Given the description of an element on the screen output the (x, y) to click on. 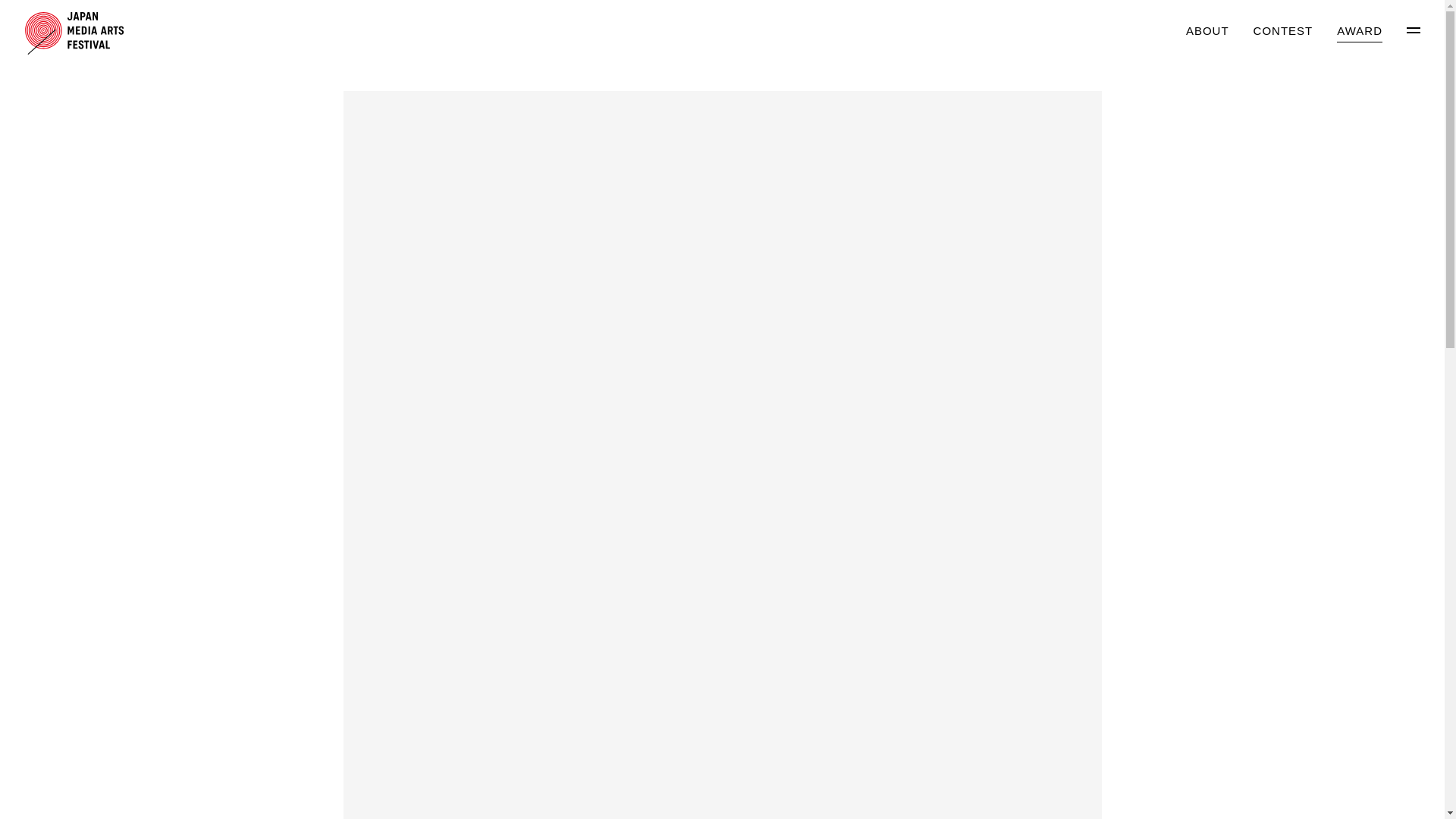
AWARD (1358, 32)
ABOUT (1207, 32)
CONTEST (1283, 32)
